Given the description of an element on the screen output the (x, y) to click on. 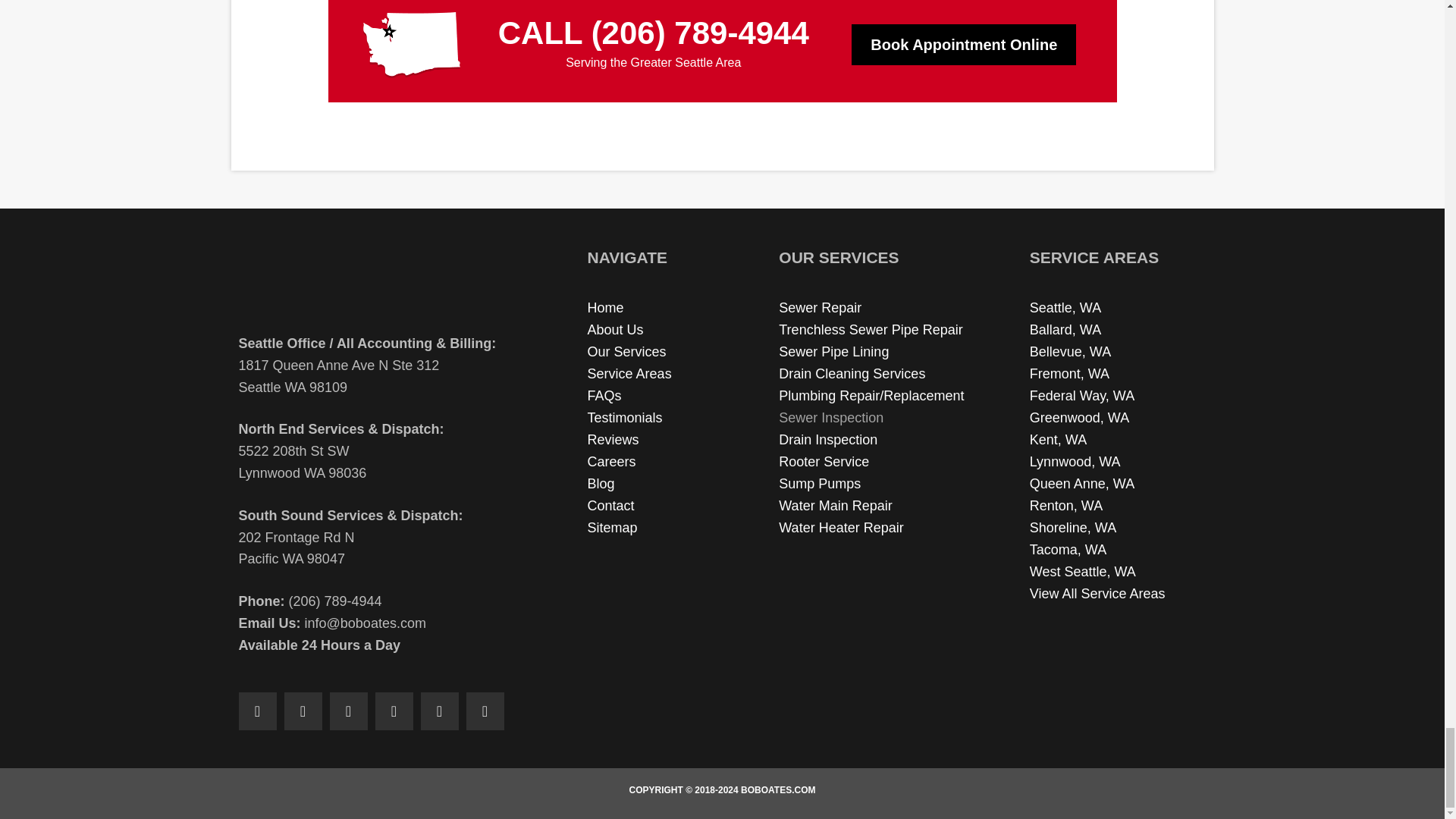
bob-oates-seattle-wa-white (411, 44)
Bob Oates (371, 281)
